Given the description of an element on the screen output the (x, y) to click on. 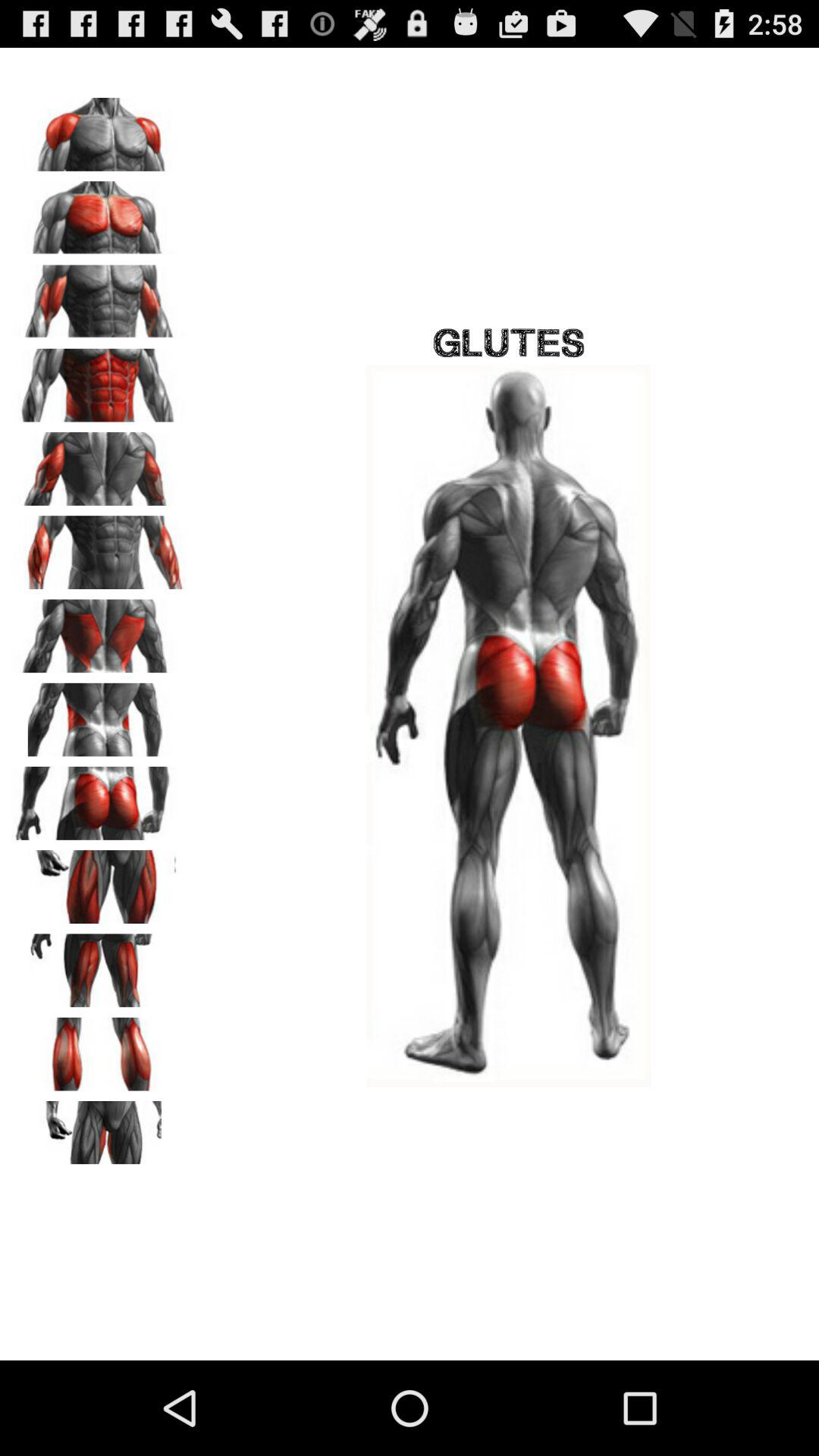
select lower back muscles (99, 714)
